Given the description of an element on the screen output the (x, y) to click on. 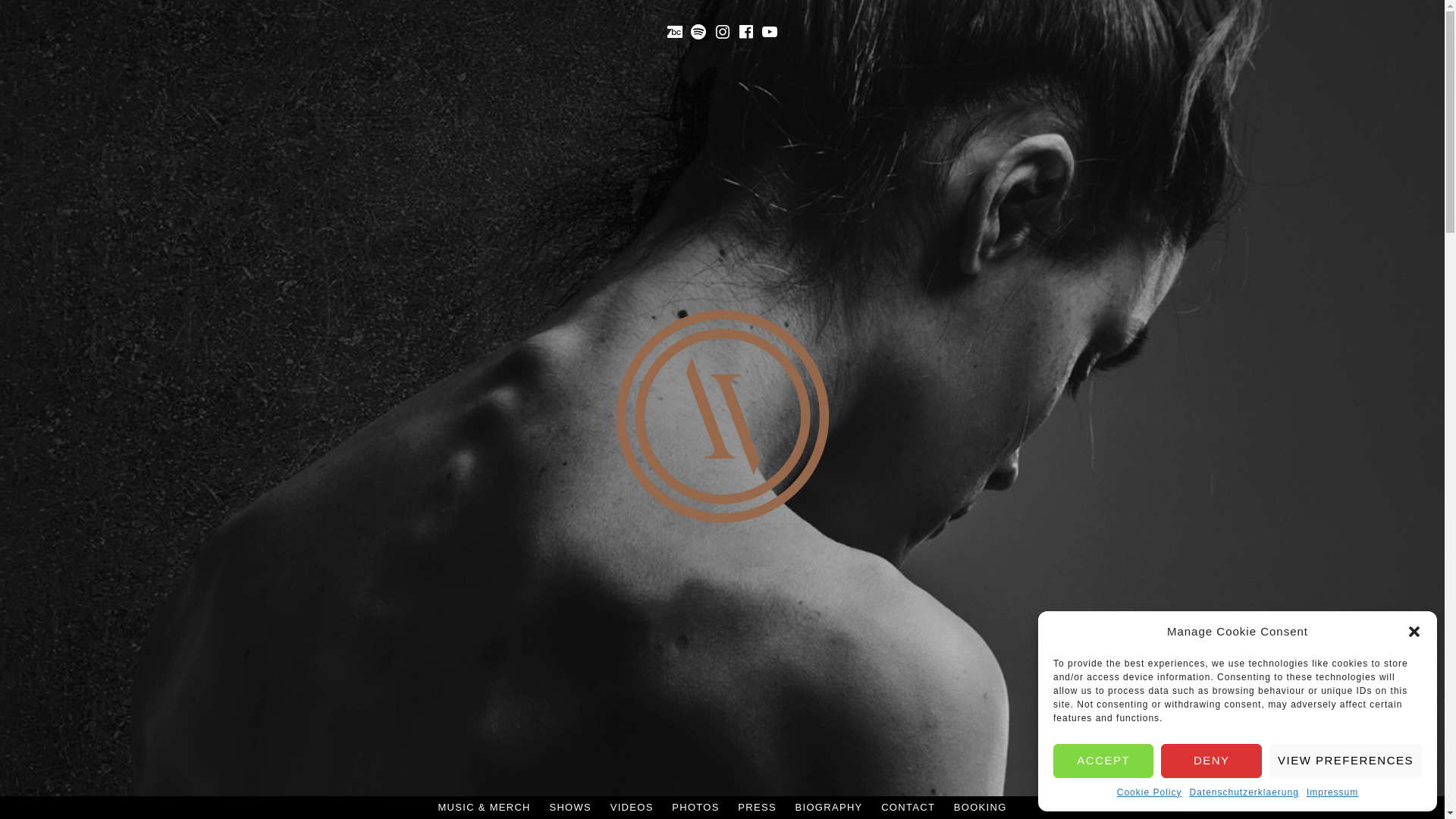
YouTube Element type: text (769, 31)
Bandcamp Element type: text (674, 31)
HAVEN Element type: text (750, 567)
Cookie Policy Element type: text (1149, 792)
Datenschutzerklaerung Element type: text (1243, 792)
Impressum Element type: text (1332, 792)
Facebook Element type: text (746, 31)
VIEW PREFERENCES Element type: text (1345, 760)
DENY Element type: text (1211, 760)
Instagram Element type: text (722, 31)
ACCEPT Element type: text (1103, 760)
Spotify Element type: text (698, 31)
